Given the description of an element on the screen output the (x, y) to click on. 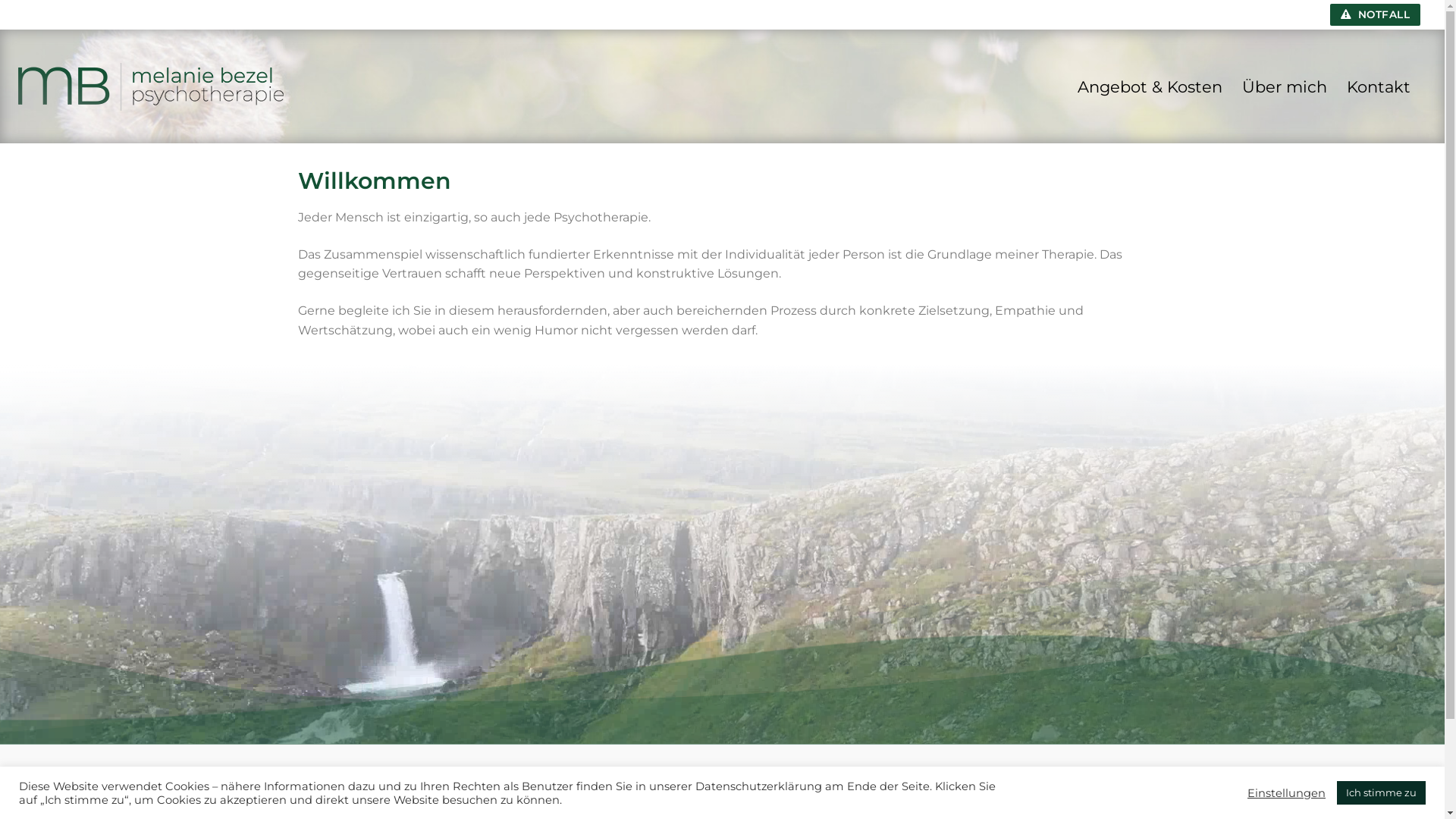
Ich stimme zu Element type: text (1380, 792)
NOTFALL Element type: text (1375, 14)
Einstellungen Element type: text (1286, 792)
Angebot & Kosten Element type: text (1149, 86)
Kontakt Element type: text (1378, 86)
